Given the description of an element on the screen output the (x, y) to click on. 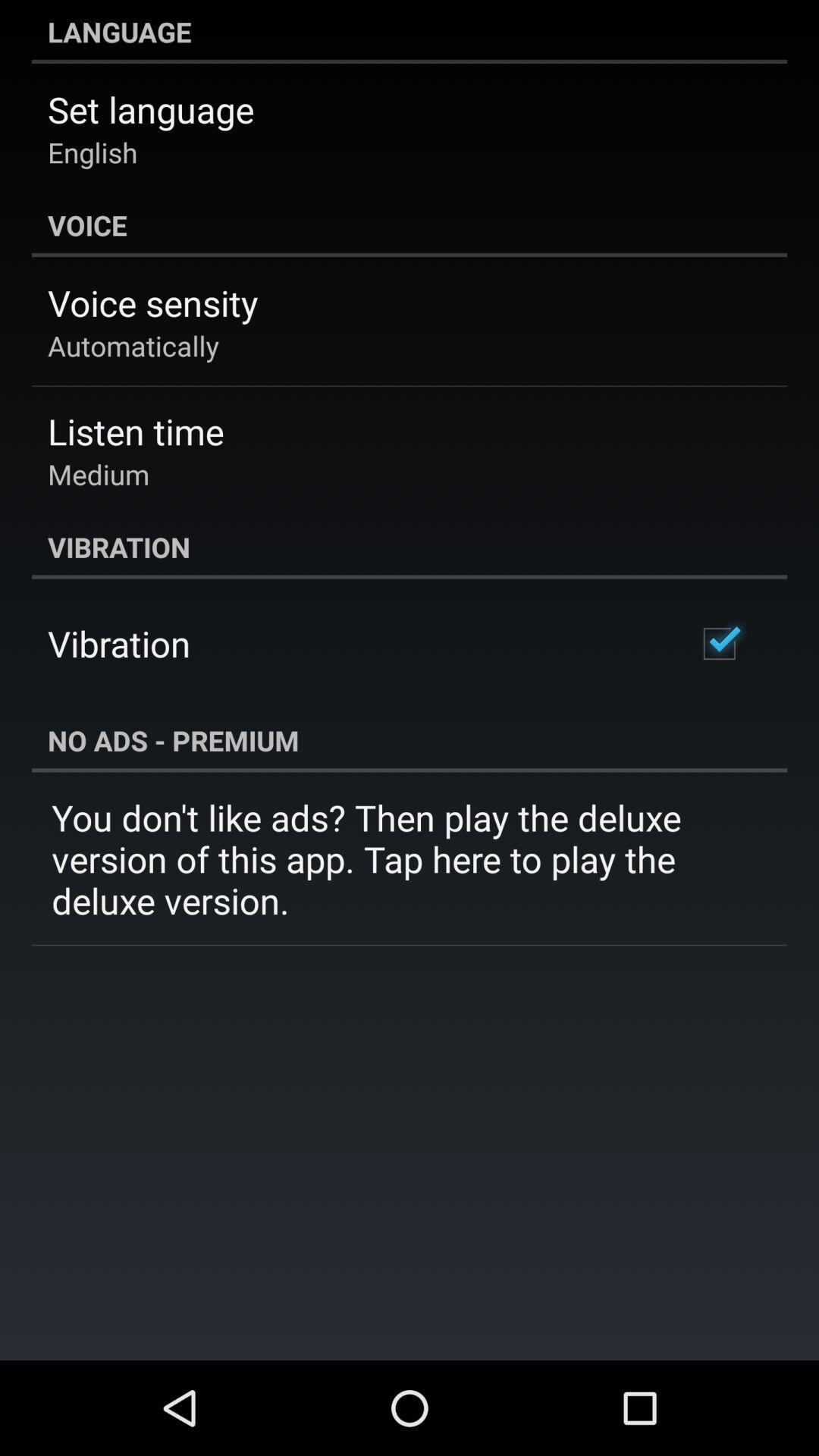
tap item to the right of the vibration icon (719, 643)
